Given the description of an element on the screen output the (x, y) to click on. 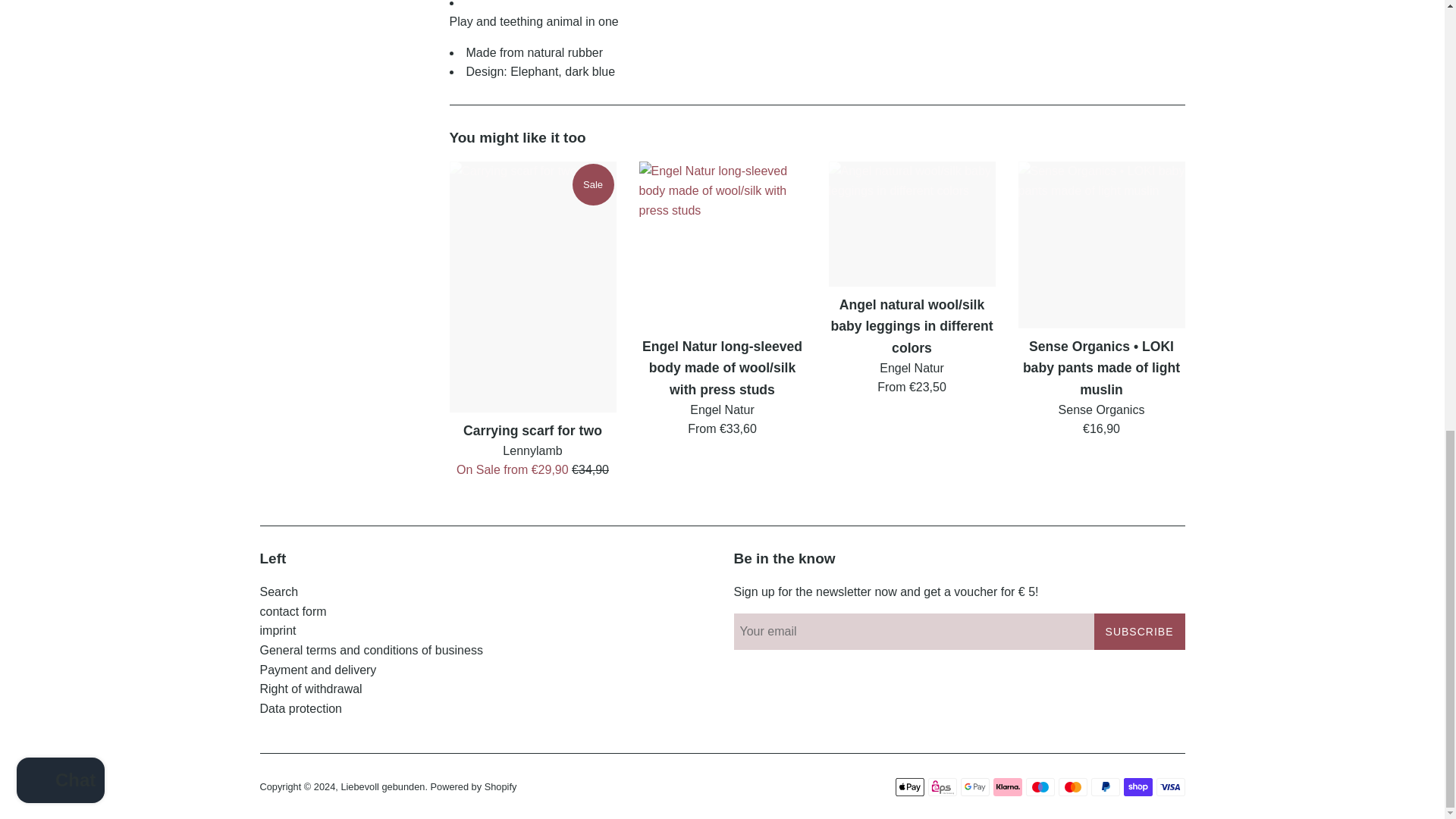
Google Pay (973, 787)
Shop Pay (1138, 787)
Maestro (1039, 787)
EPS (942, 787)
PayPal (1104, 787)
Visa (1170, 787)
Mastercard (1072, 787)
Apple Pay (909, 787)
Klarna (1007, 787)
